Given the description of an element on the screen output the (x, y) to click on. 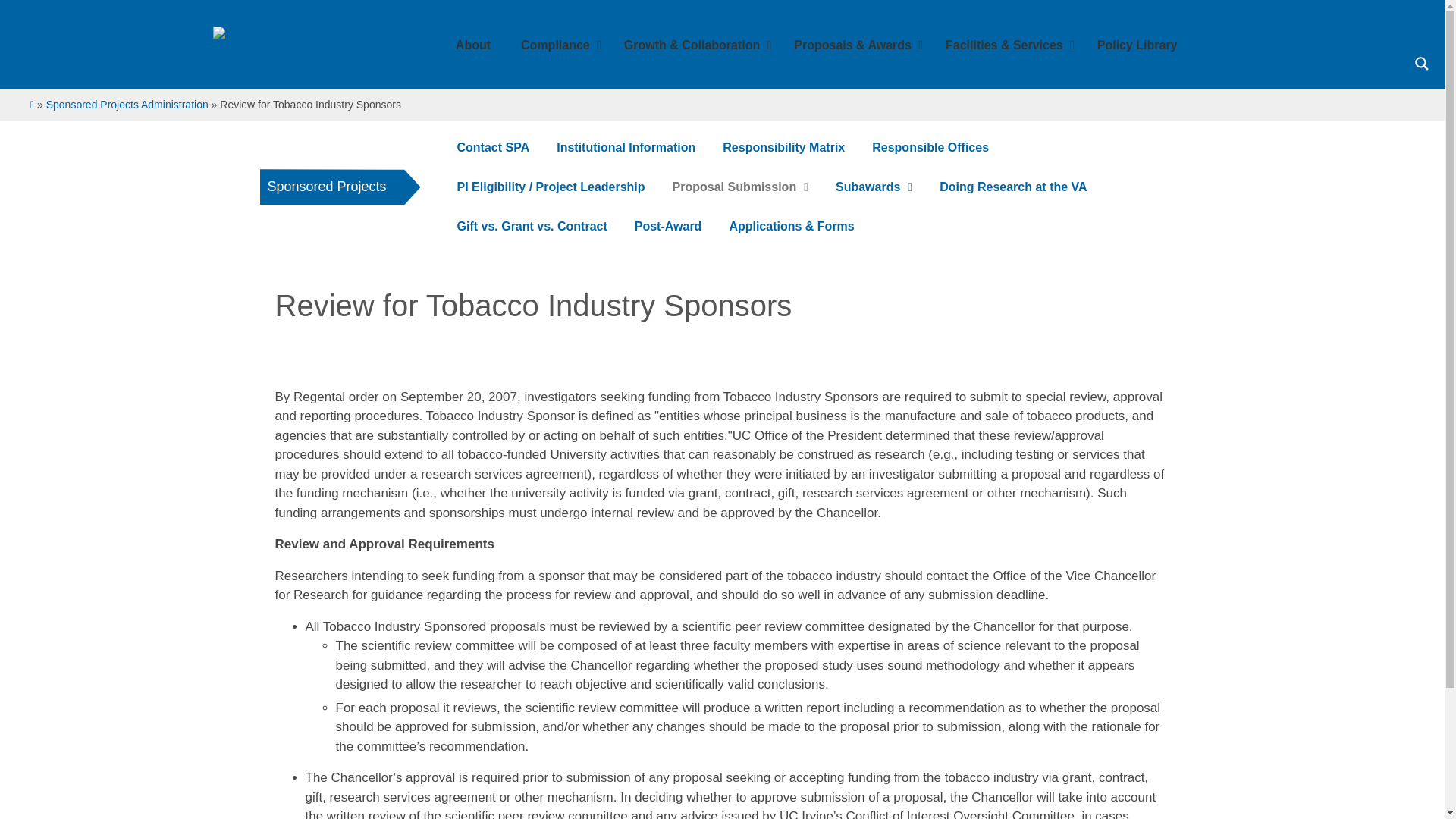
Policy Library (1136, 45)
Compliance (556, 45)
Office of Research Wordmark and link back to homepage (303, 32)
Go to Sponsored Projects Administration. (127, 104)
About (473, 45)
